Given the description of an element on the screen output the (x, y) to click on. 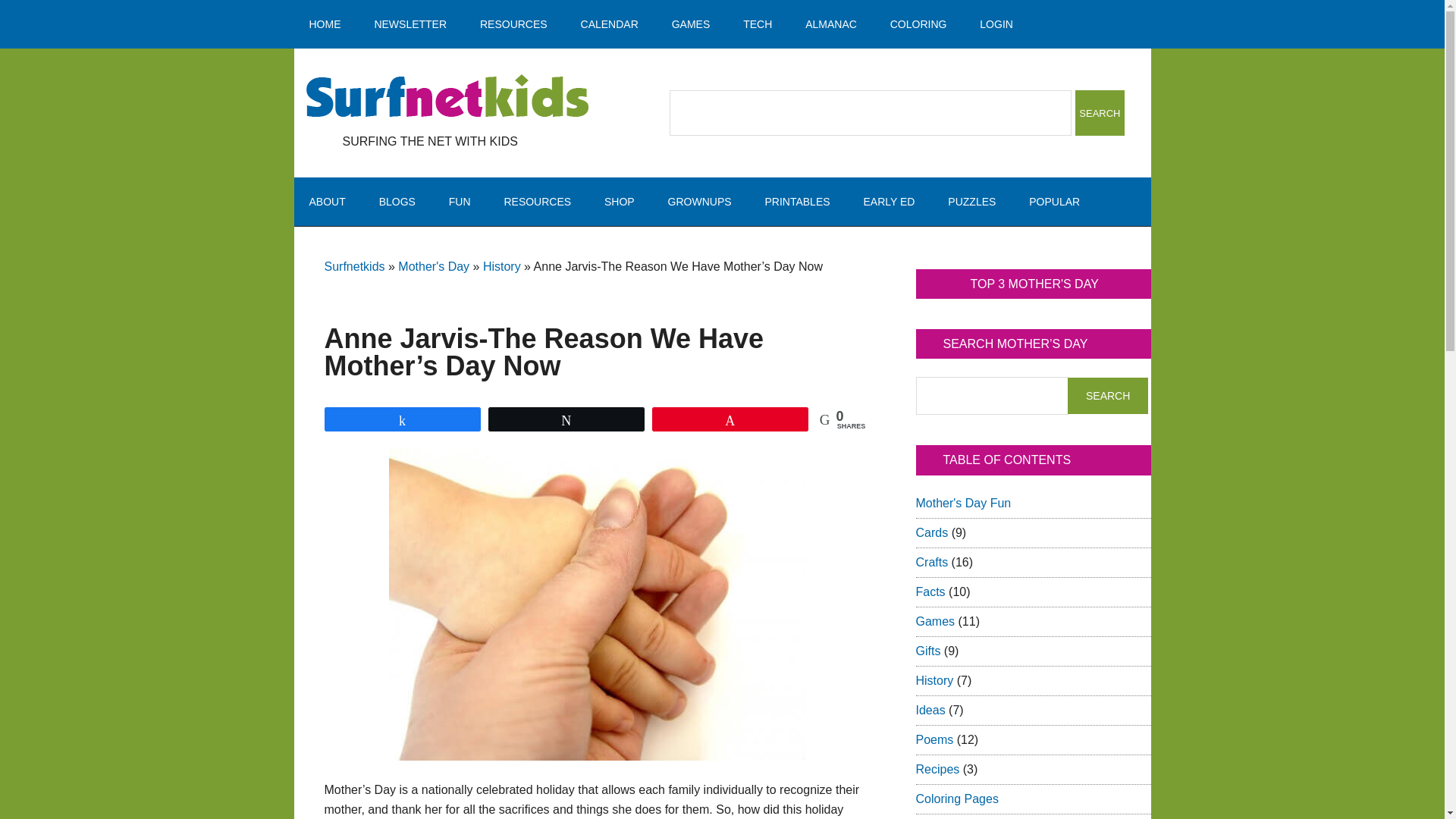
GAMES (690, 24)
Surfing the Net with Kids (446, 97)
RESOURCES (513, 24)
TECH (757, 24)
BLOGS (397, 201)
NEWSLETTER (409, 24)
Search (1107, 395)
Search (1107, 395)
Surfing the Net with Kids (446, 97)
HOME (325, 24)
ALMANAC (831, 24)
CALENDAR (609, 24)
Search (1099, 112)
Search (1099, 112)
LOGIN (995, 24)
